Given the description of an element on the screen output the (x, y) to click on. 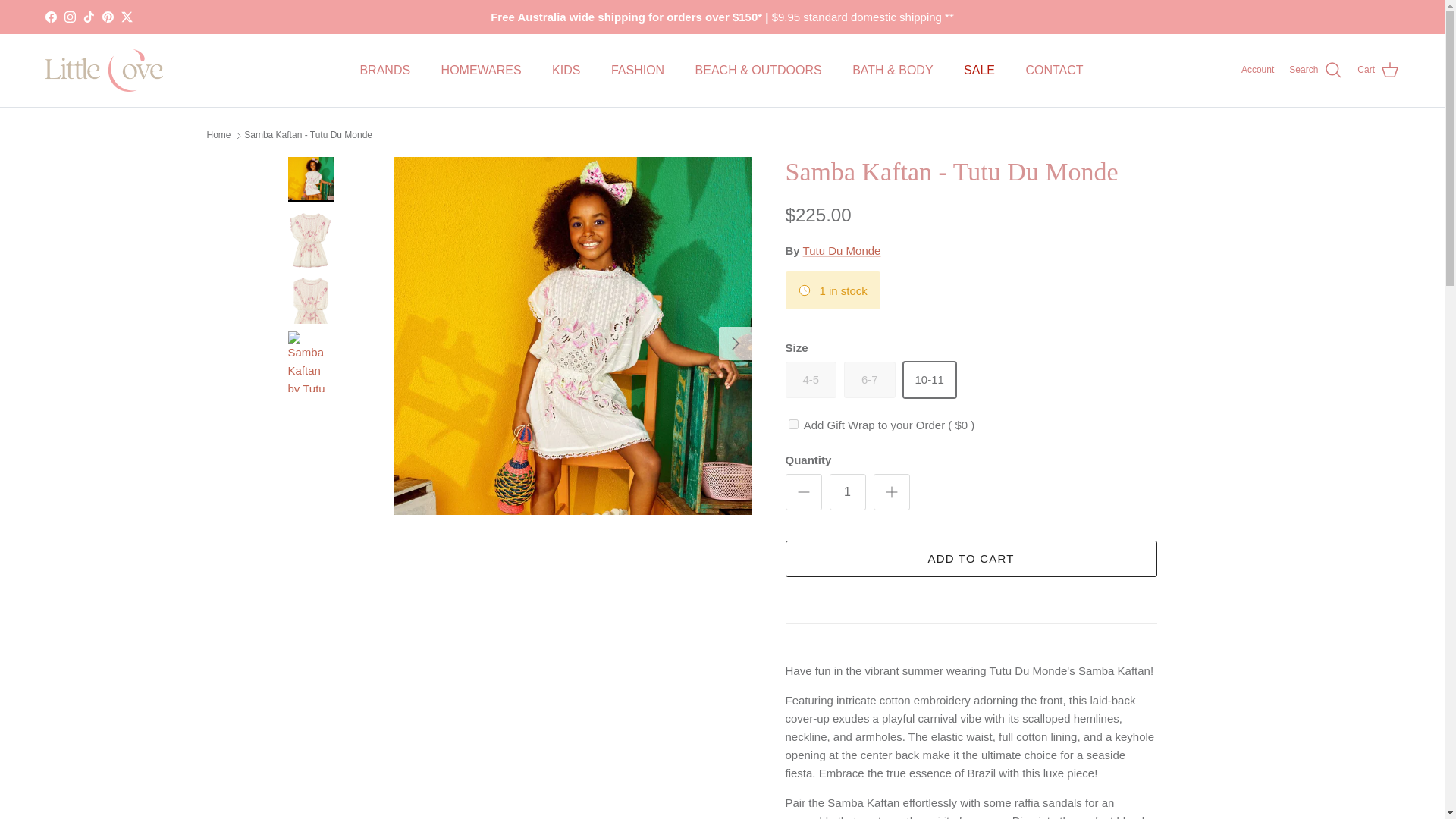
Little Cove Collective on Facebook (50, 16)
Sold out (811, 379)
Instagram (69, 16)
Pinterest (107, 16)
Little Cove Collective (104, 70)
Sold out (869, 379)
TikTok (88, 16)
Search (1315, 70)
CONTACT (1053, 70)
Account (1257, 69)
